Given the description of an element on the screen output the (x, y) to click on. 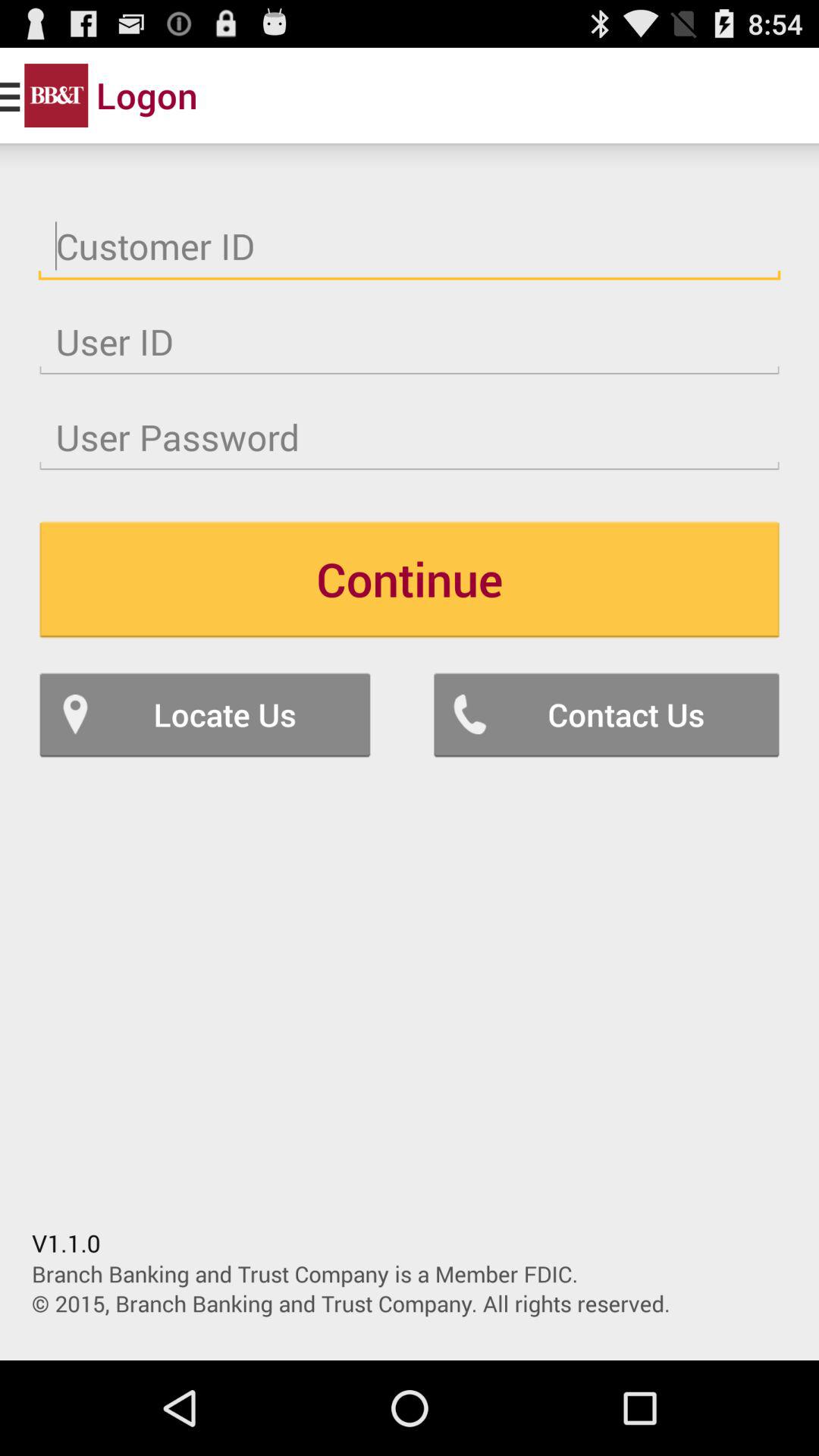
flip to the continue item (409, 578)
